Given the description of an element on the screen output the (x, y) to click on. 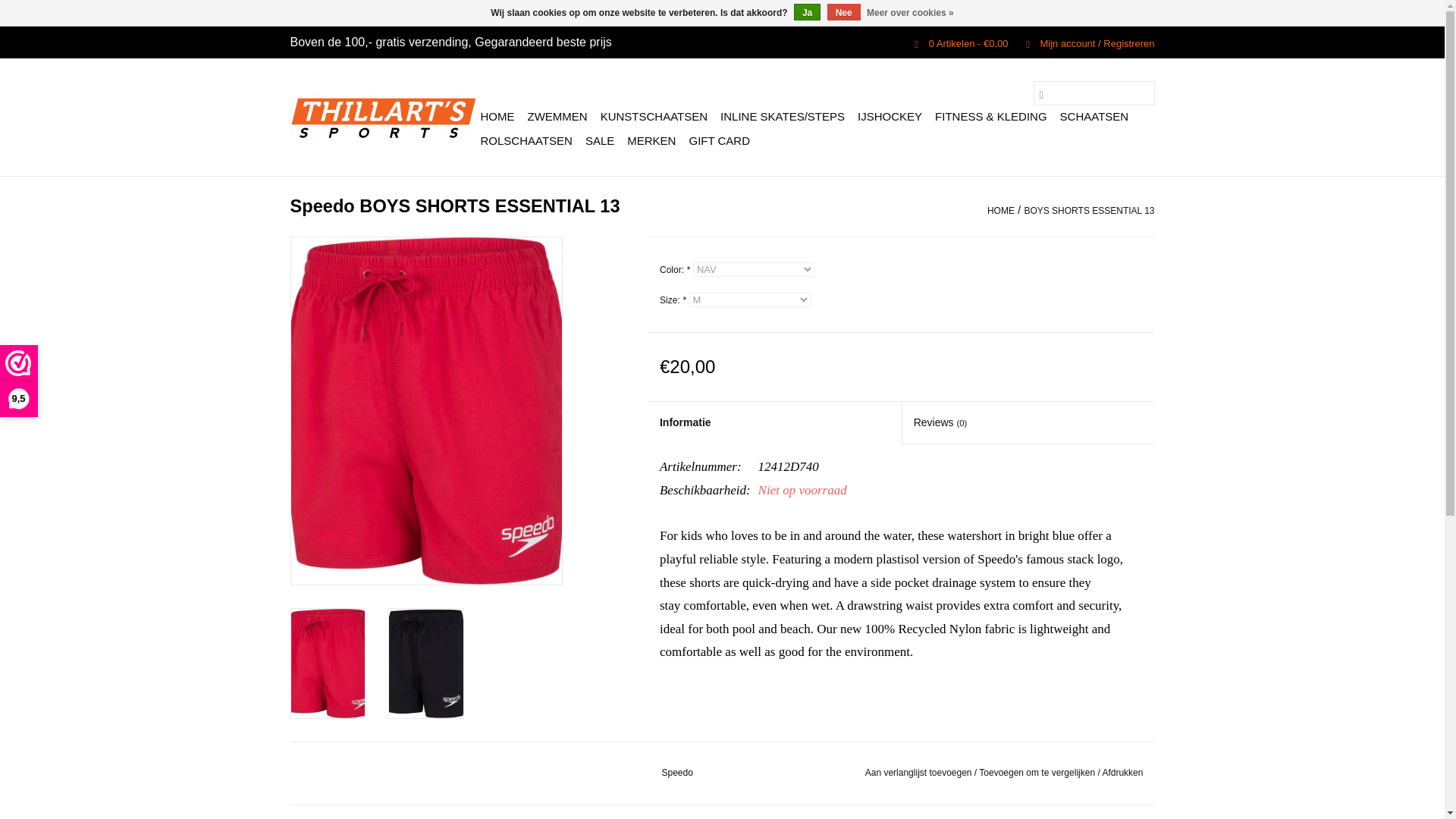
Winkelwagen (954, 43)
ZWEMMEN (557, 116)
Zwemmen (557, 116)
Mijn account (1082, 43)
HOME (497, 116)
KUNSTSCHAATSEN (653, 116)
THILLARTSSPORTS (382, 116)
Kunstschaatsen (653, 116)
